Given the description of an element on the screen output the (x, y) to click on. 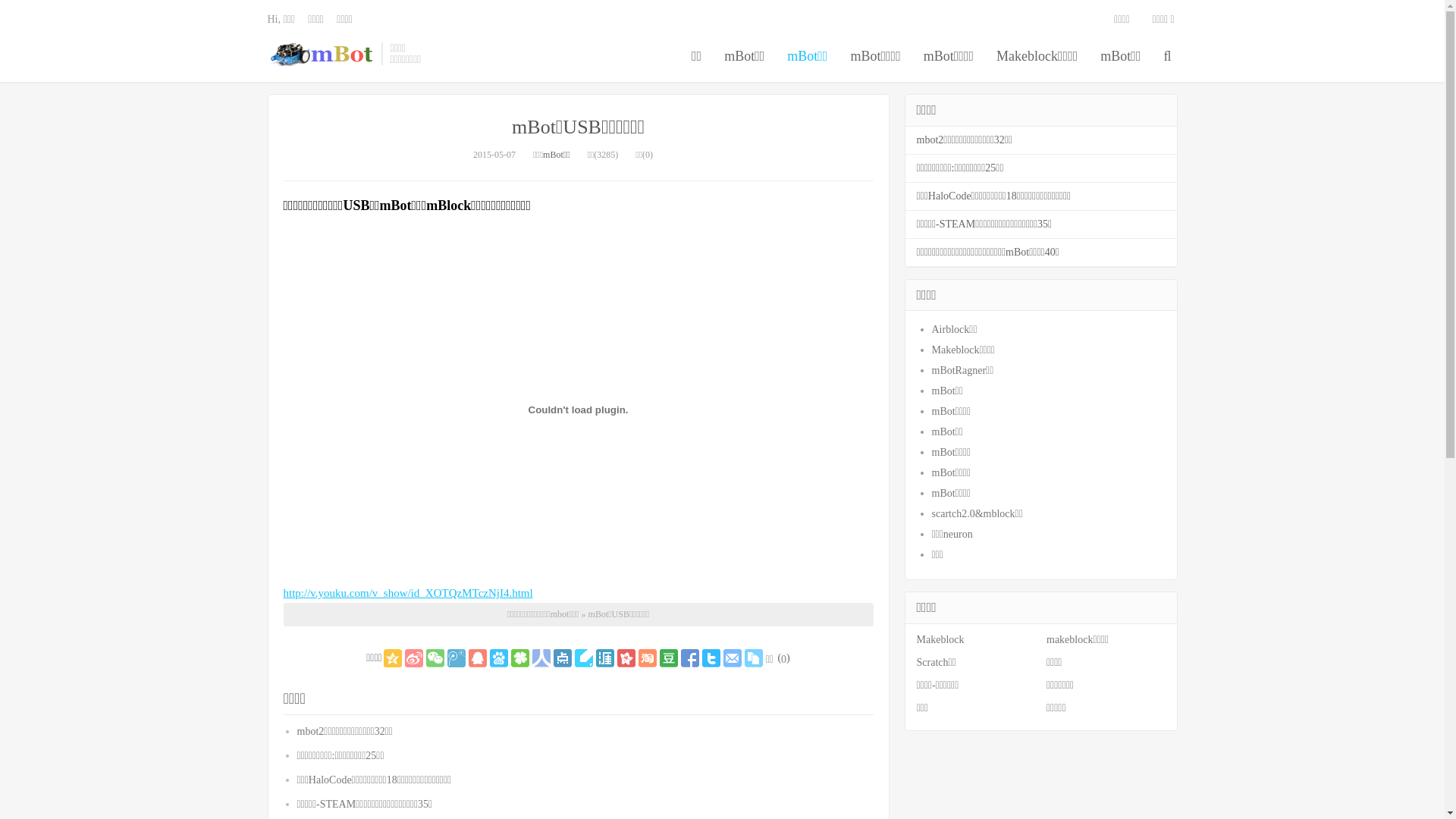
http://v.youku.com/v_show/id_XOTQzMTczNjI4.html Element type: text (408, 592)
0 Element type: text (783, 659)
Makeblock Element type: text (939, 639)
